Given the description of an element on the screen output the (x, y) to click on. 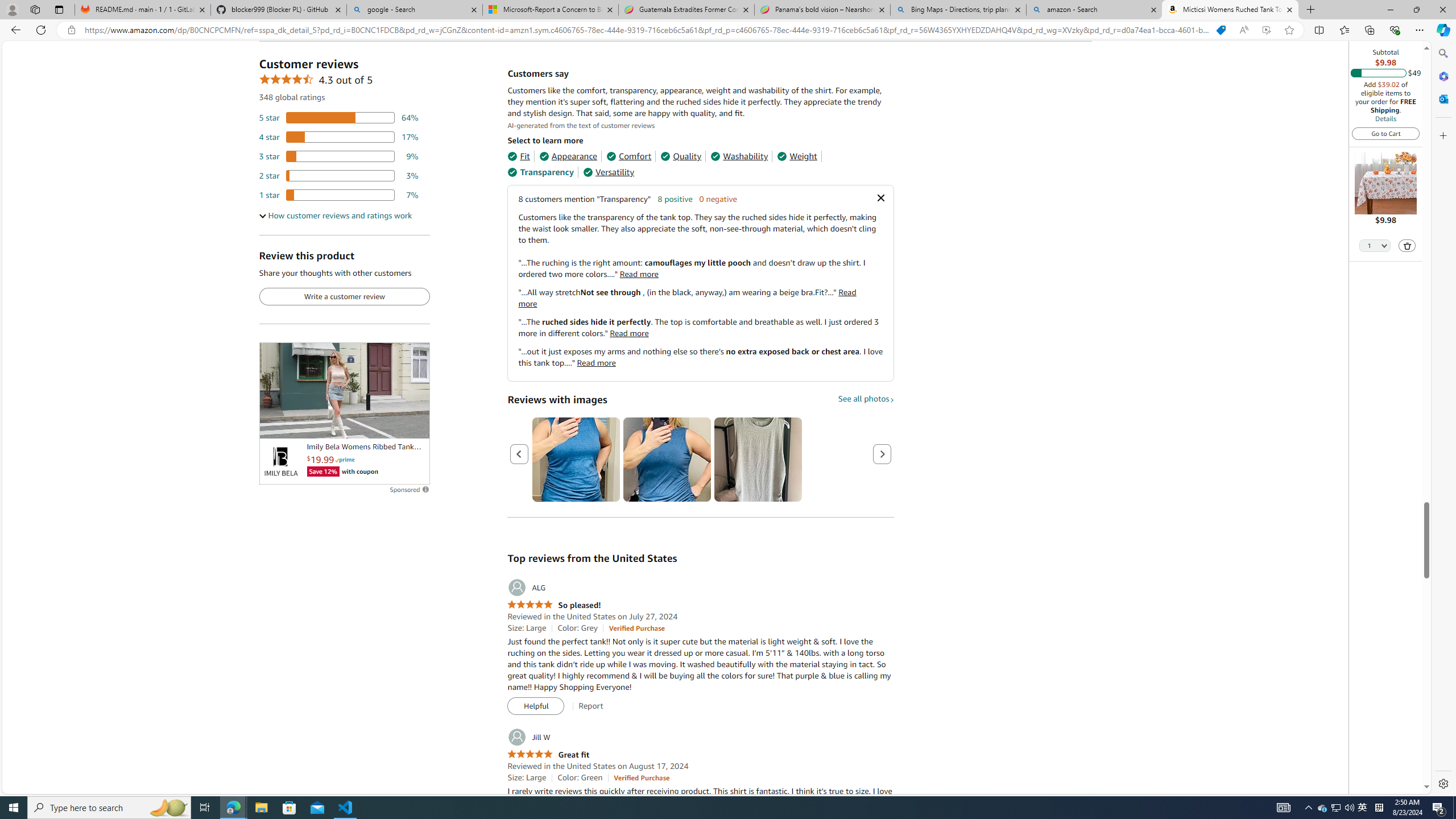
3 percent of reviews have 2 stars (339, 175)
How customer reviews and ratings work (335, 215)
Quality (681, 156)
Shopping in Microsoft Edge (1220, 29)
Washability (739, 156)
17 percent of reviews have 4 stars (339, 137)
